Given the description of an element on the screen output the (x, y) to click on. 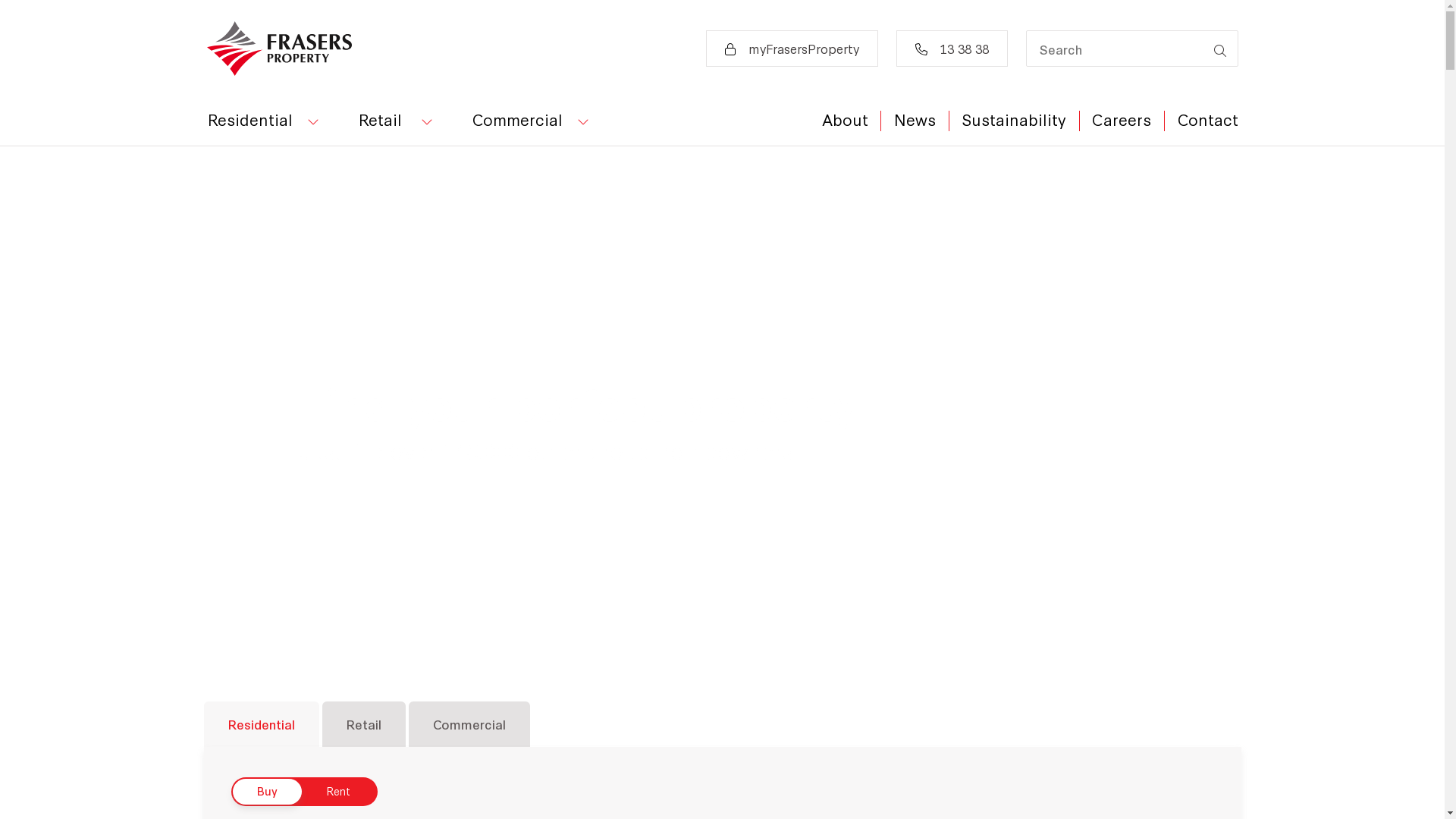
Careers Element type: text (1121, 117)
About Element type: text (844, 117)
Contact Element type: text (1201, 117)
Sustainability Element type: text (1014, 117)
News Element type: text (914, 117)
myFrasersProperty Element type: text (791, 48)
13 38 38 Element type: text (951, 48)
